Given the description of an element on the screen output the (x, y) to click on. 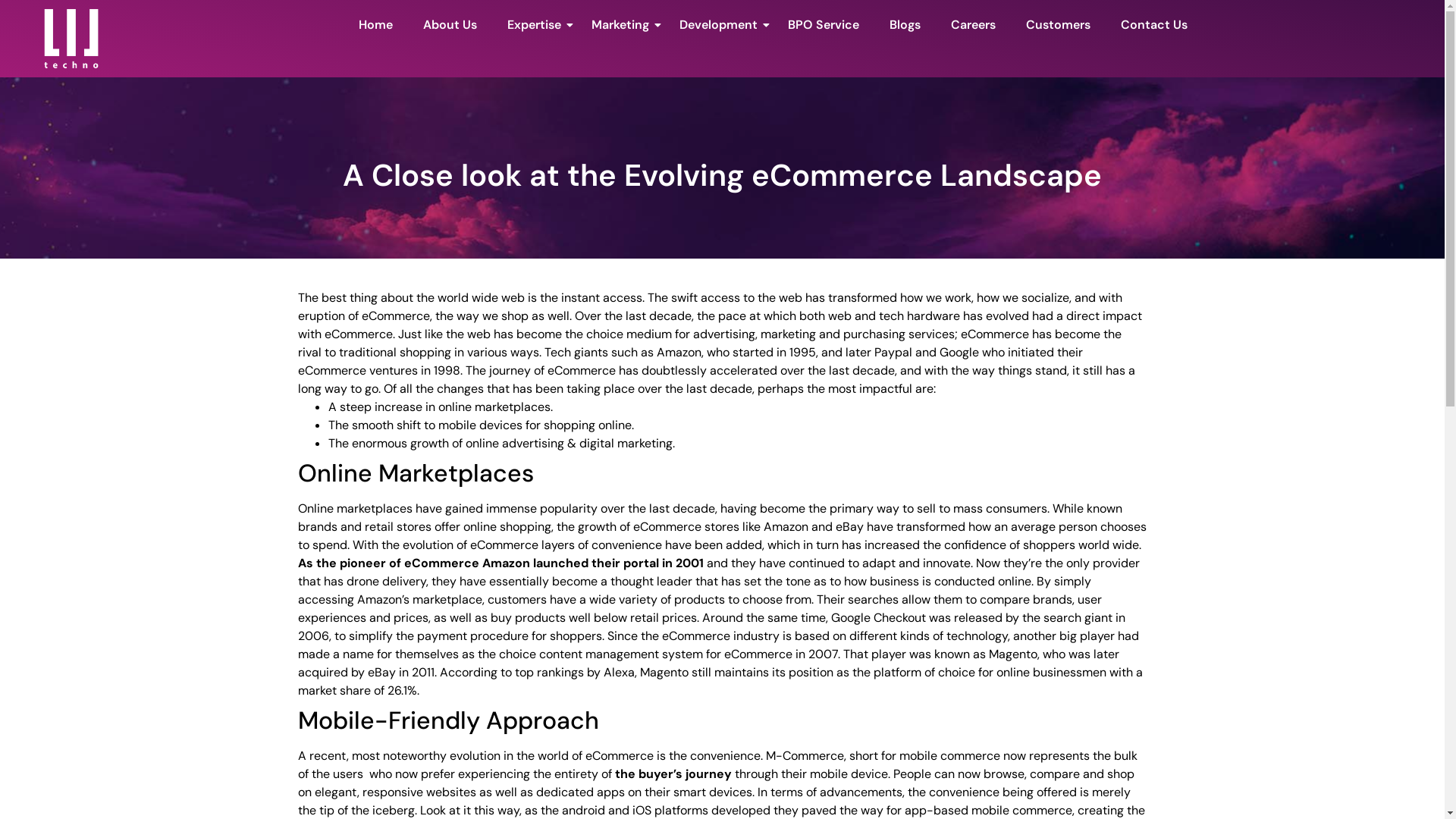
Contact Us Element type: text (1154, 25)
BPO Service Element type: text (823, 25)
Home Element type: text (375, 25)
Customers Element type: text (1058, 25)
Expertise Element type: text (533, 25)
Blogs Element type: text (904, 25)
Marketing Element type: text (619, 25)
Development Element type: text (718, 25)
Careers Element type: text (973, 25)
About Us Element type: text (449, 25)
